Given the description of an element on the screen output the (x, y) to click on. 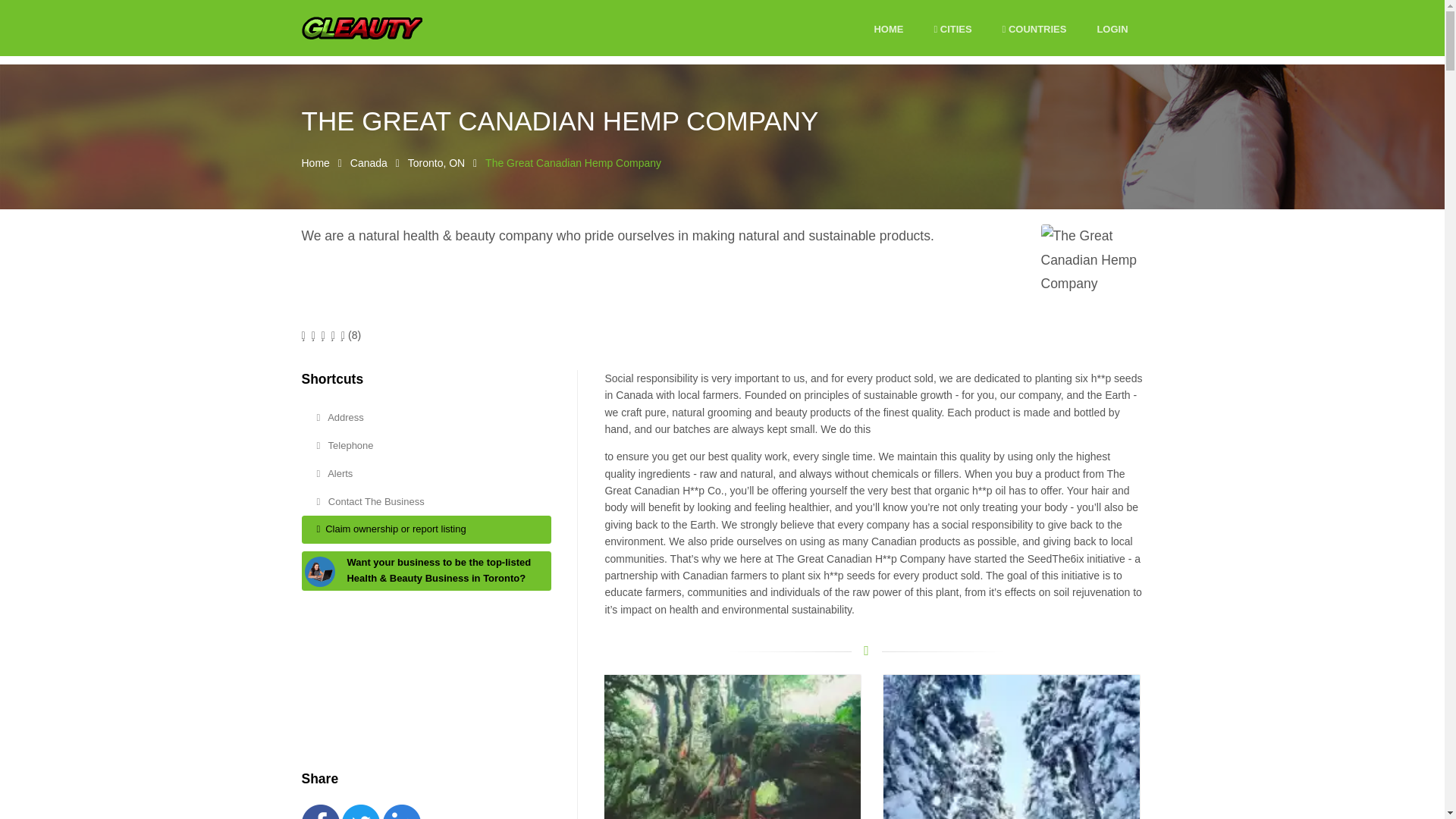
Toronto, ON (435, 162)
Contact The Business (426, 502)
Address (426, 418)
Alerts (426, 474)
Telephone (426, 446)
Canada (368, 162)
Claim ownership or report listing (426, 529)
CITIES (952, 29)
HOME (887, 29)
Home (315, 162)
